Given the description of an element on the screen output the (x, y) to click on. 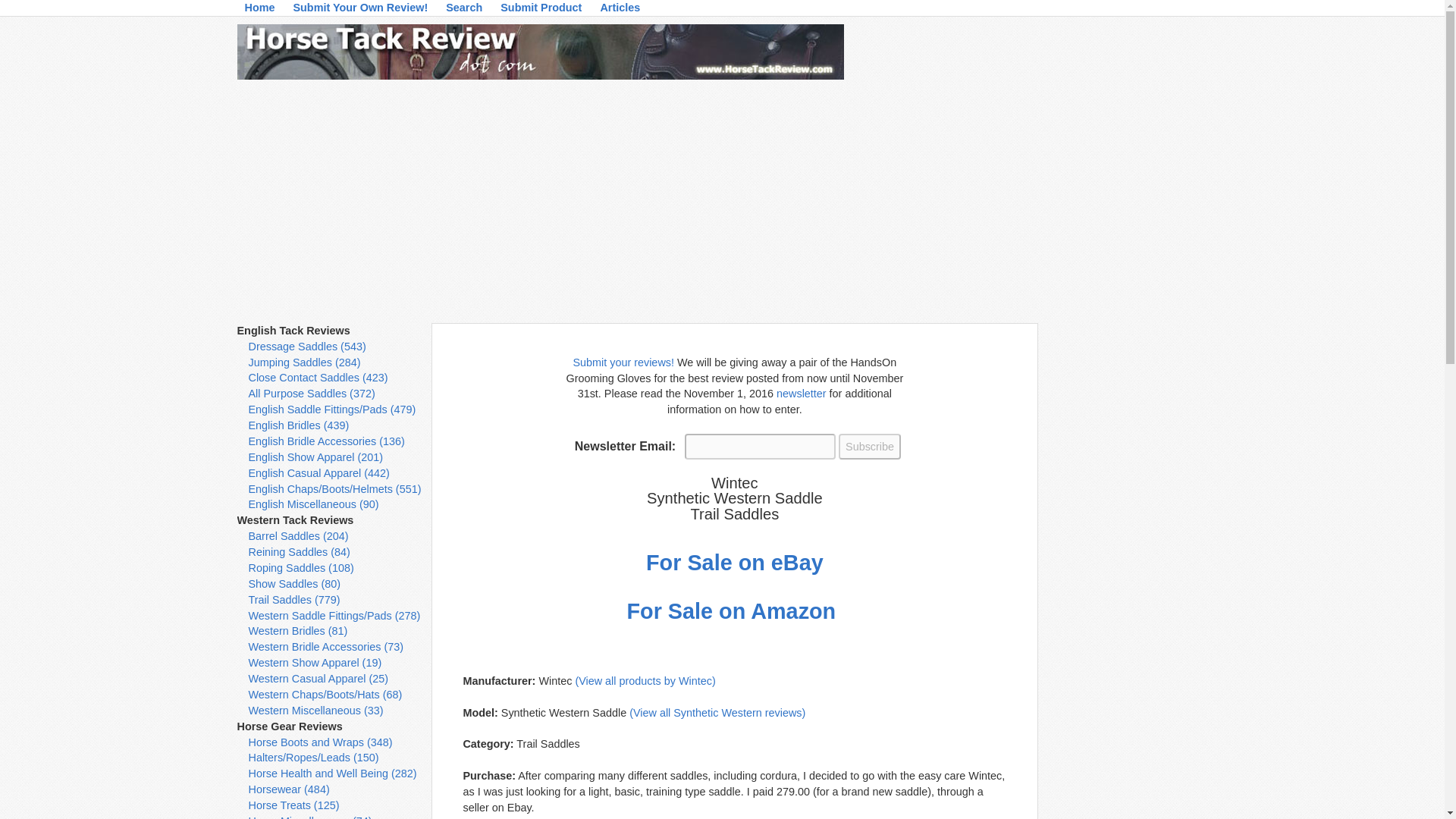
Search (463, 10)
Articles (619, 10)
Submit Your Own Review! (360, 10)
Submit Product (541, 10)
Home (258, 10)
Subscribe (869, 446)
